Given the description of an element on the screen output the (x, y) to click on. 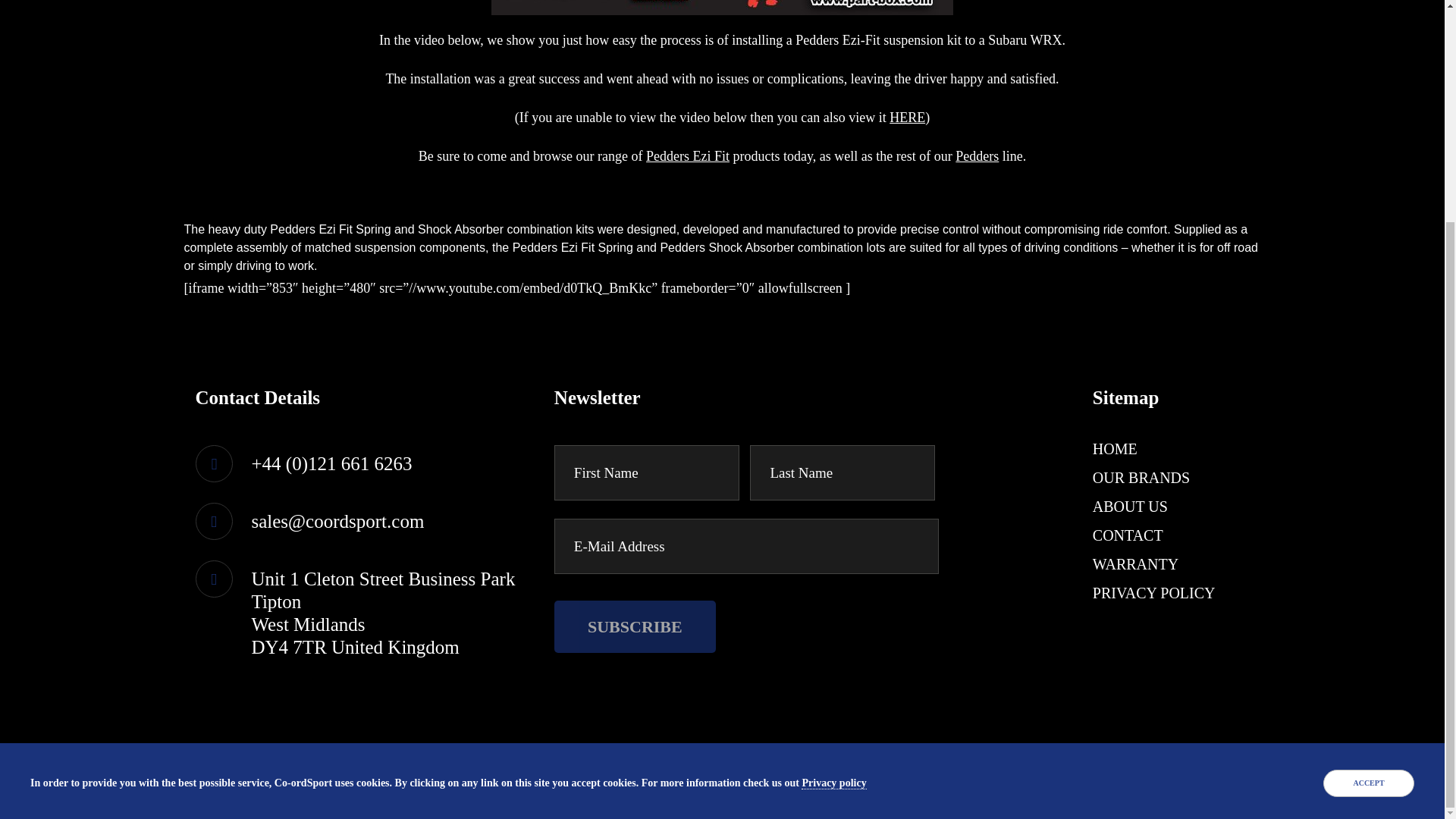
Pedders Ezi Fit (687, 155)
WARRANTY (1135, 564)
ABOUT US (1130, 506)
PRIVACY POLICY (1154, 593)
HERE (906, 117)
ACCEPT (1368, 488)
Privacy policy (834, 489)
SUBSCRIBE (635, 626)
CONTACT (1128, 535)
HOME (1115, 449)
